Given the description of an element on the screen output the (x, y) to click on. 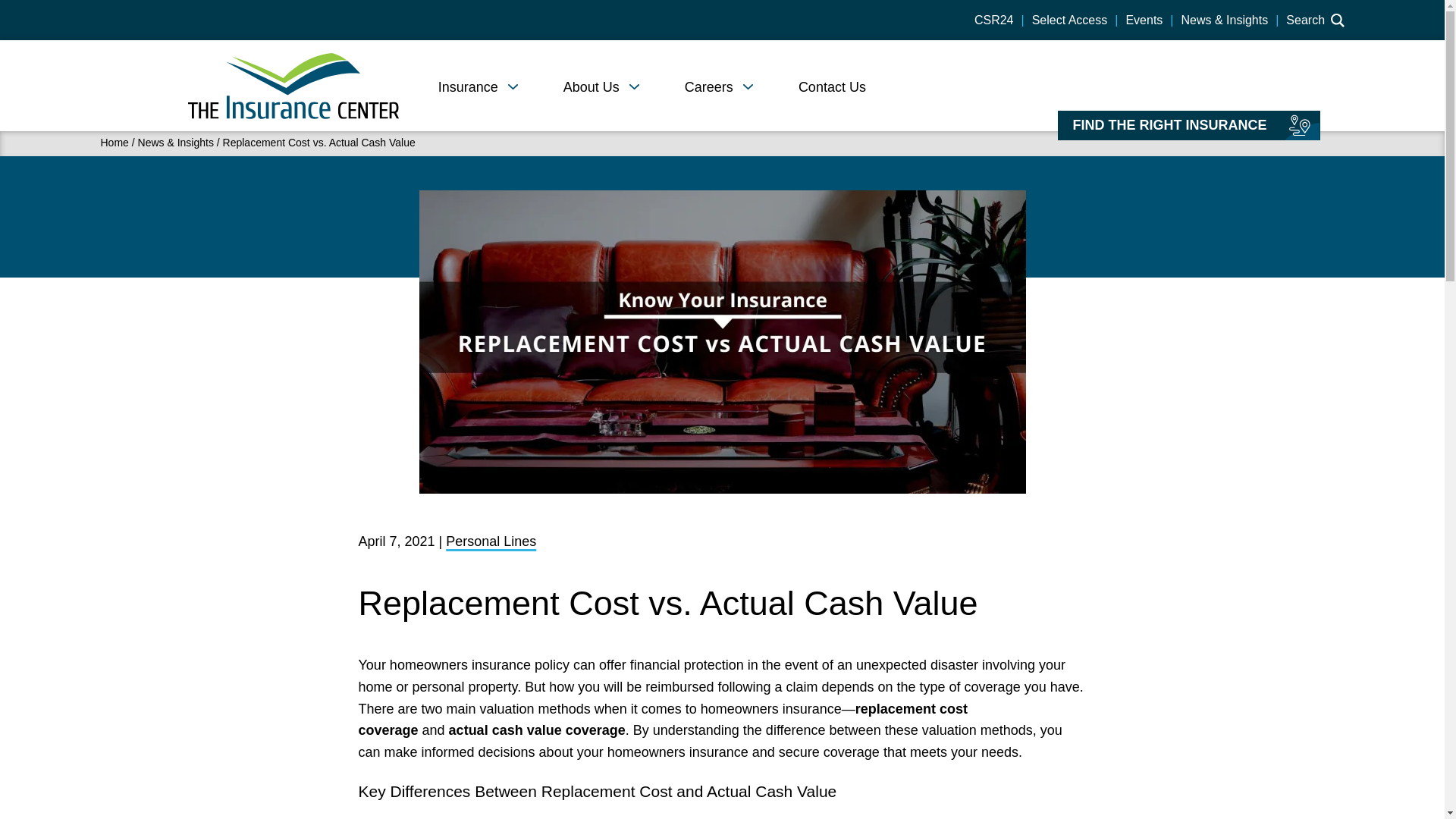
CSR24 (993, 19)
Careers (708, 85)
FIND THE RIGHT INSURANCE (1169, 124)
Insurance (467, 85)
Select Access (1070, 19)
Events (1143, 19)
Contact Us (831, 85)
About Us (591, 85)
Search (1314, 20)
